Given the description of an element on the screen output the (x, y) to click on. 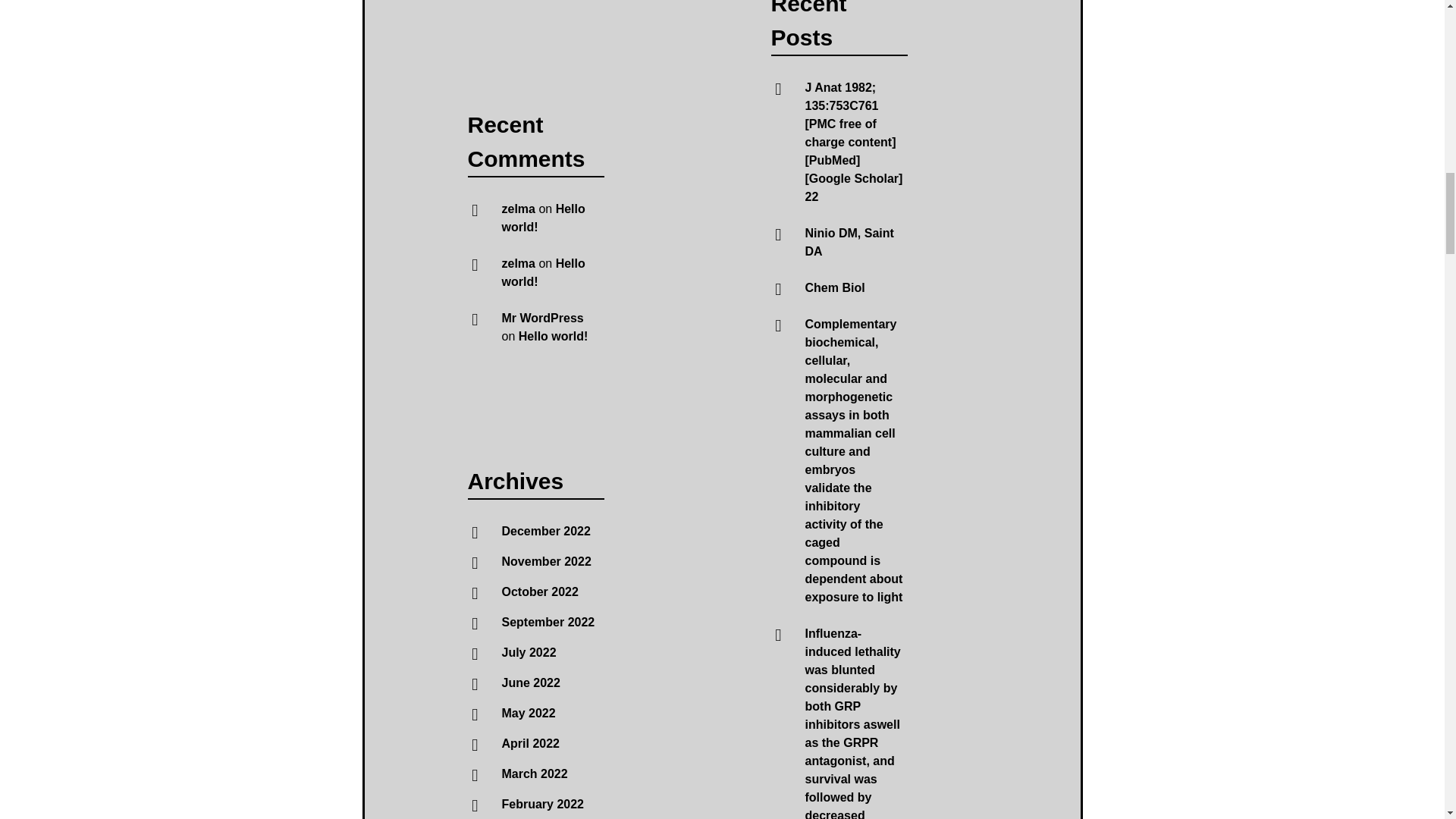
Hello world! (553, 336)
February 2022 (543, 803)
Chem Biol (834, 287)
Mr WordPress (542, 318)
June 2022 (531, 682)
September 2022 (548, 621)
March 2022 (534, 773)
Hello world! (543, 217)
December 2022 (546, 530)
July 2022 (529, 652)
